Given the description of an element on the screen output the (x, y) to click on. 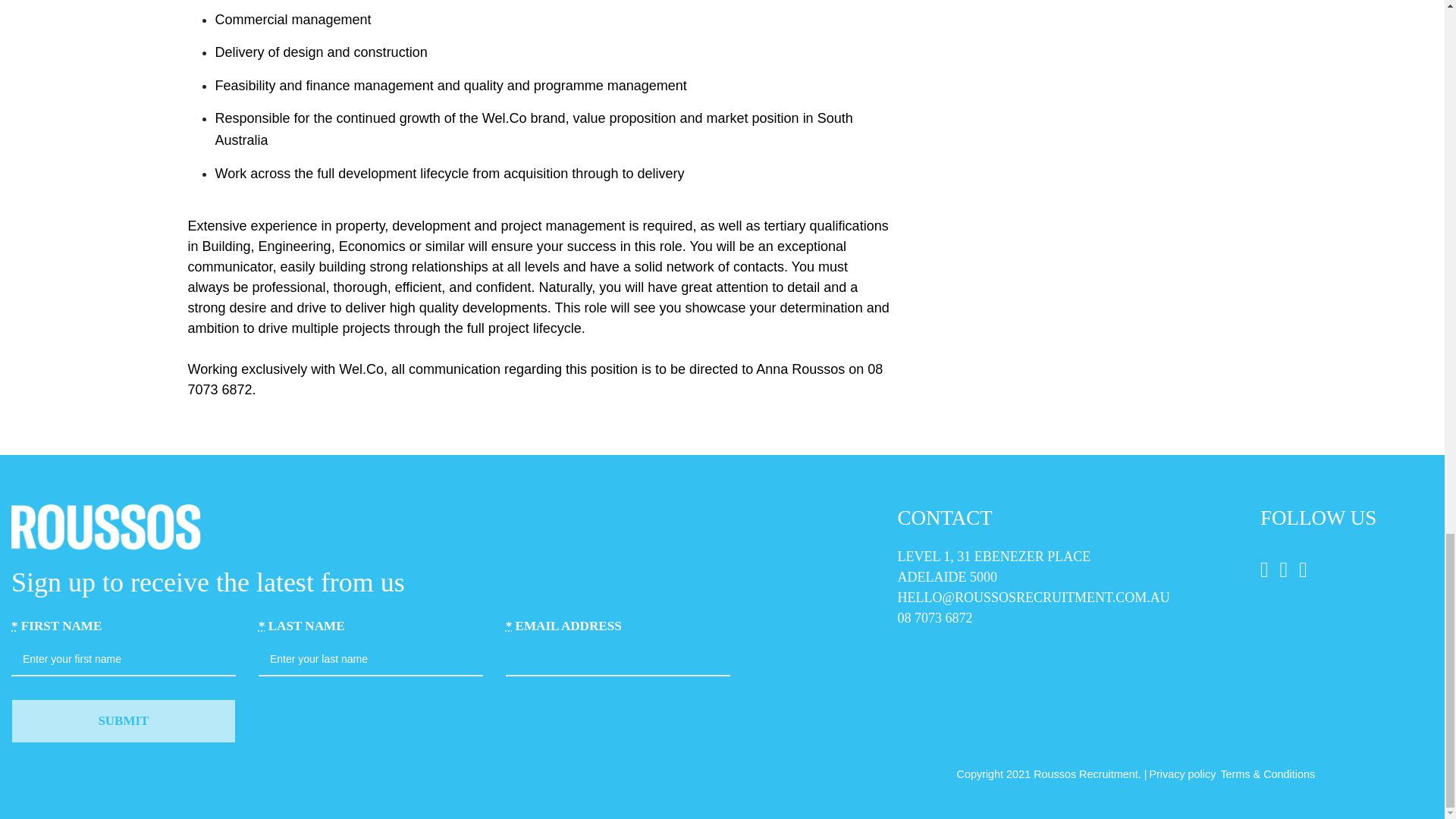
Submit (123, 720)
Privacy policy (1181, 774)
Submit (123, 720)
